Given the description of an element on the screen output the (x, y) to click on. 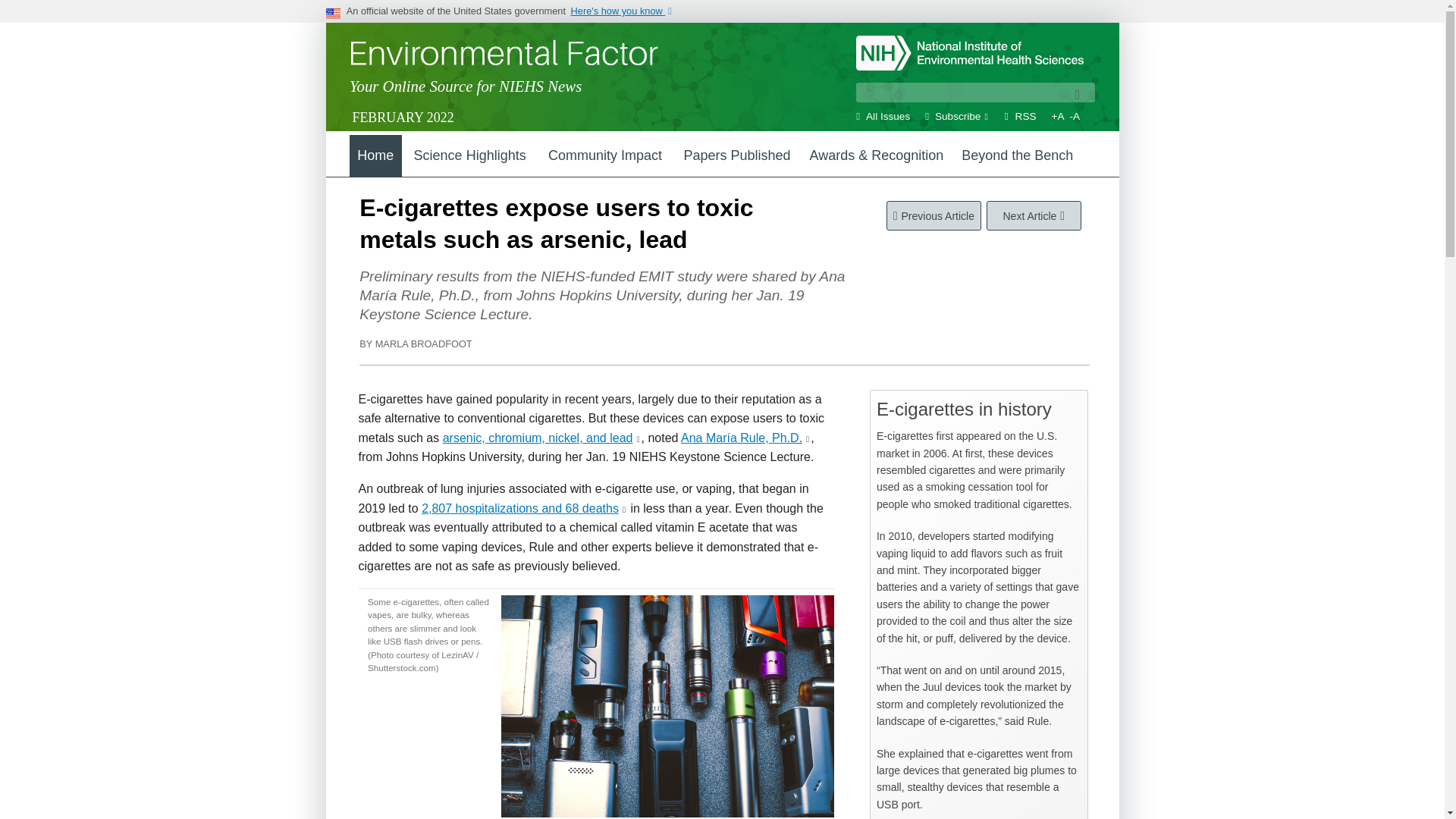
2,807 hospitalizations and 68 deaths (520, 508)
Science Highlights (469, 155)
Beyond the Bench (1016, 155)
FEBRUARY 2022 (402, 117)
Next Article (1034, 215)
Papers Published (736, 155)
arsenic, chromium, nickel, and lead (537, 437)
Enter the terms you wish to search for. (975, 92)
Here's how you know (627, 11)
Previous Article (933, 215)
Subscribe (956, 116)
All Issues (888, 116)
RSS (1025, 116)
-A (1075, 116)
Home (375, 155)
